Given the description of an element on the screen output the (x, y) to click on. 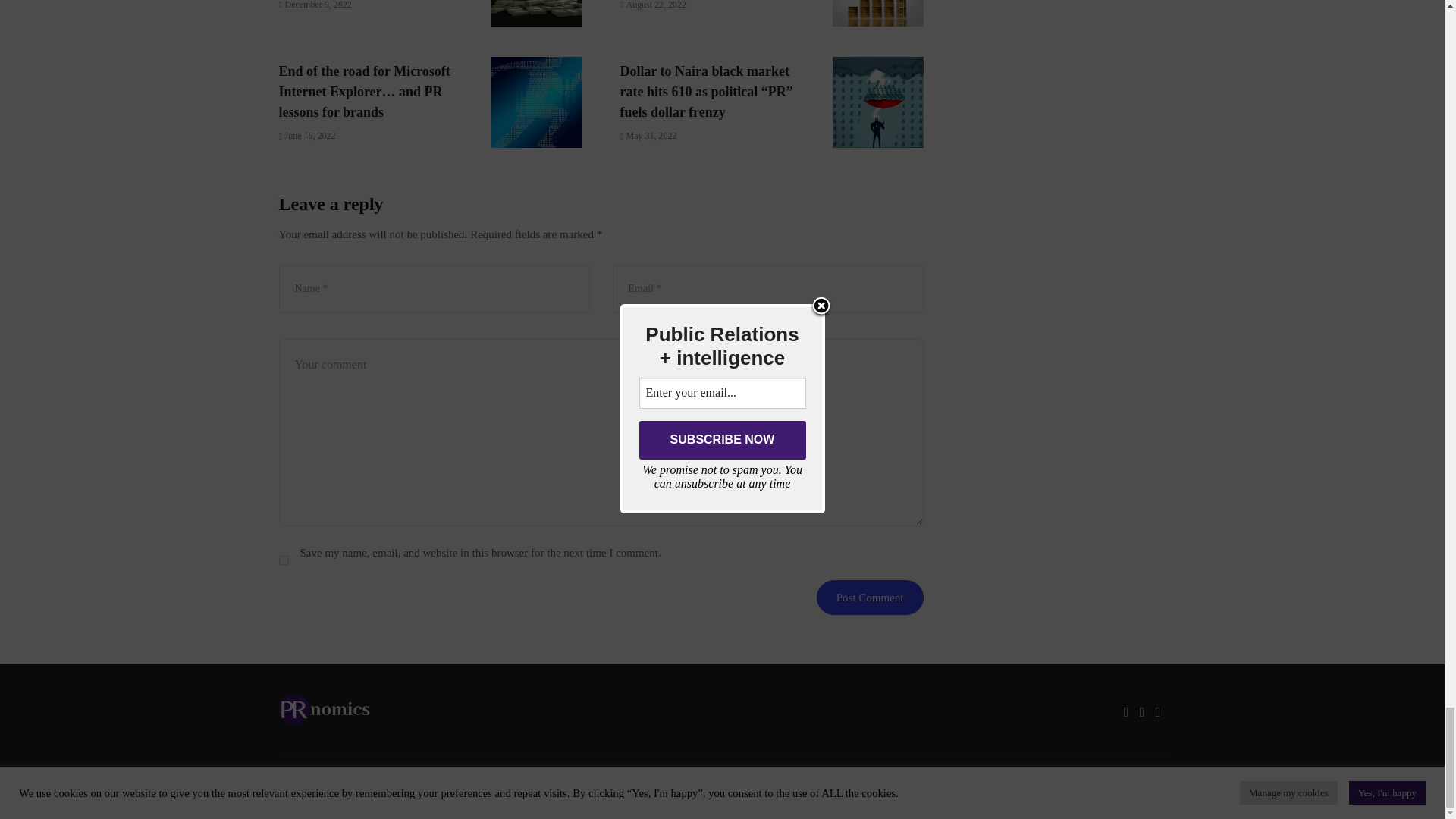
December 9, 2022 at 6:25 am (315, 4)
Post Comment (869, 597)
